Given the description of an element on the screen output the (x, y) to click on. 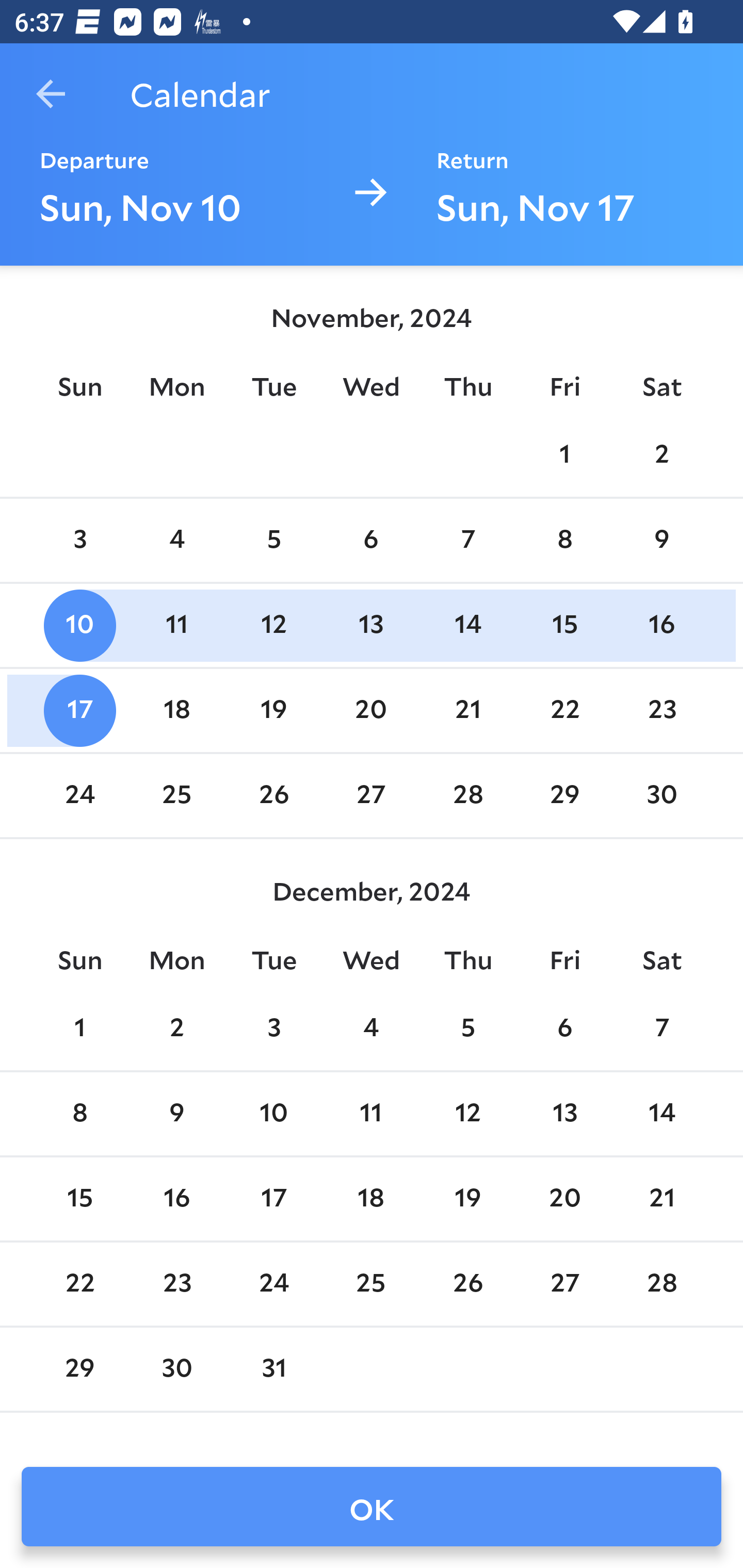
Navigate up (50, 93)
1 (565, 454)
2 (661, 454)
3 (79, 540)
4 (177, 540)
5 (273, 540)
6 (371, 540)
7 (467, 540)
8 (565, 540)
9 (661, 540)
10 (79, 625)
11 (177, 625)
12 (273, 625)
13 (371, 625)
14 (467, 625)
15 (565, 625)
16 (661, 625)
17 (79, 710)
18 (177, 710)
19 (273, 710)
20 (371, 710)
21 (467, 710)
22 (565, 710)
23 (661, 710)
24 (79, 796)
25 (177, 796)
26 (273, 796)
27 (371, 796)
28 (467, 796)
29 (565, 796)
30 (661, 796)
1 (79, 1028)
2 (177, 1028)
3 (273, 1028)
4 (371, 1028)
5 (467, 1028)
6 (565, 1028)
7 (661, 1028)
8 (79, 1114)
9 (177, 1114)
10 (273, 1114)
11 (371, 1114)
12 (467, 1114)
13 (565, 1114)
14 (661, 1114)
15 (79, 1199)
16 (177, 1199)
17 (273, 1199)
18 (371, 1199)
19 (467, 1199)
